Given the description of an element on the screen output the (x, y) to click on. 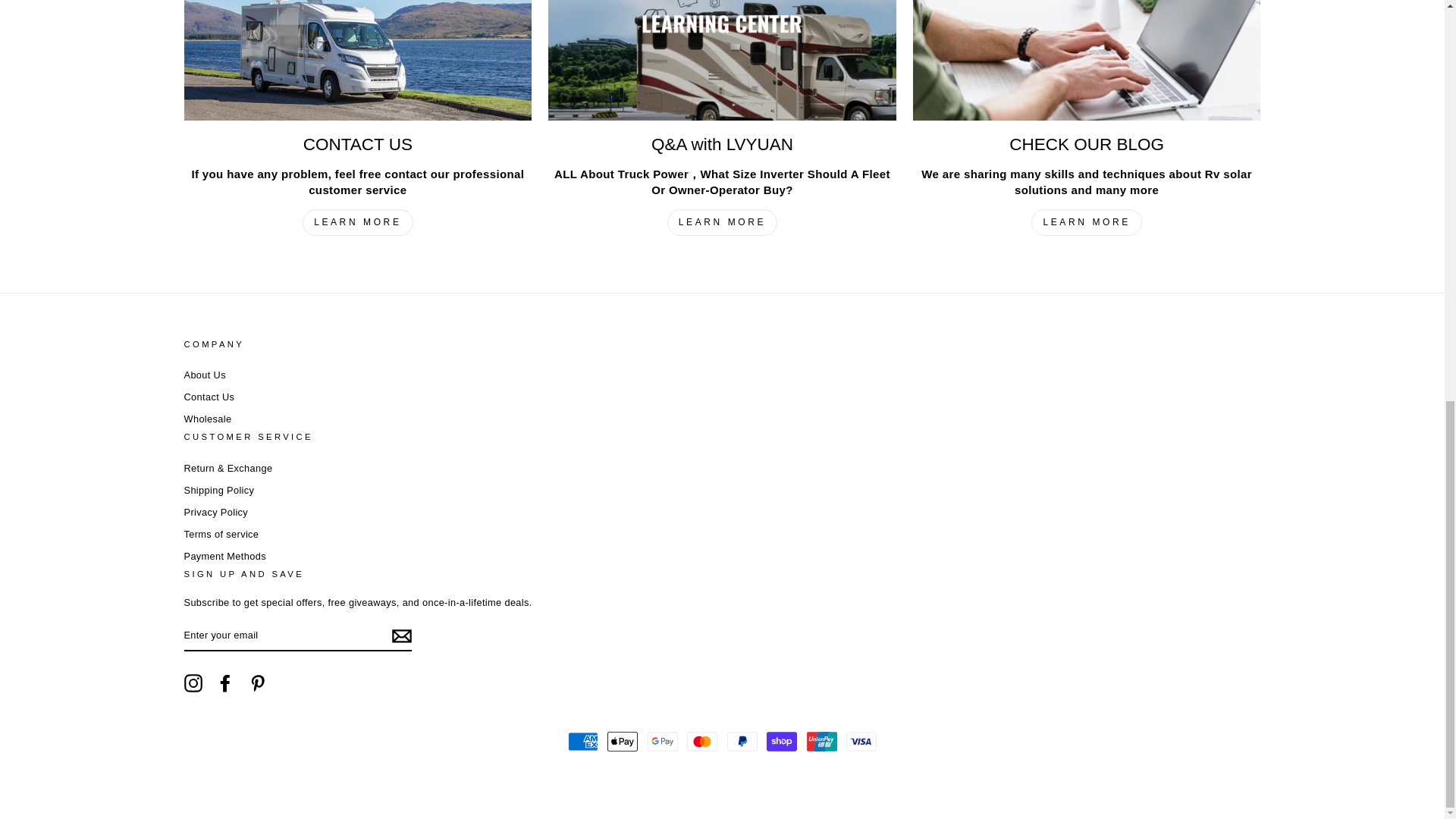
LVYUAN on Pinterest (257, 683)
Apple Pay (622, 741)
Visa (860, 741)
Google Pay (662, 741)
Union Pay (821, 741)
PayPal (741, 741)
Shop Pay (781, 741)
LVYUAN on Instagram (192, 683)
LVYUAN on Facebook (224, 683)
Mastercard (702, 741)
